Given the description of an element on the screen output the (x, y) to click on. 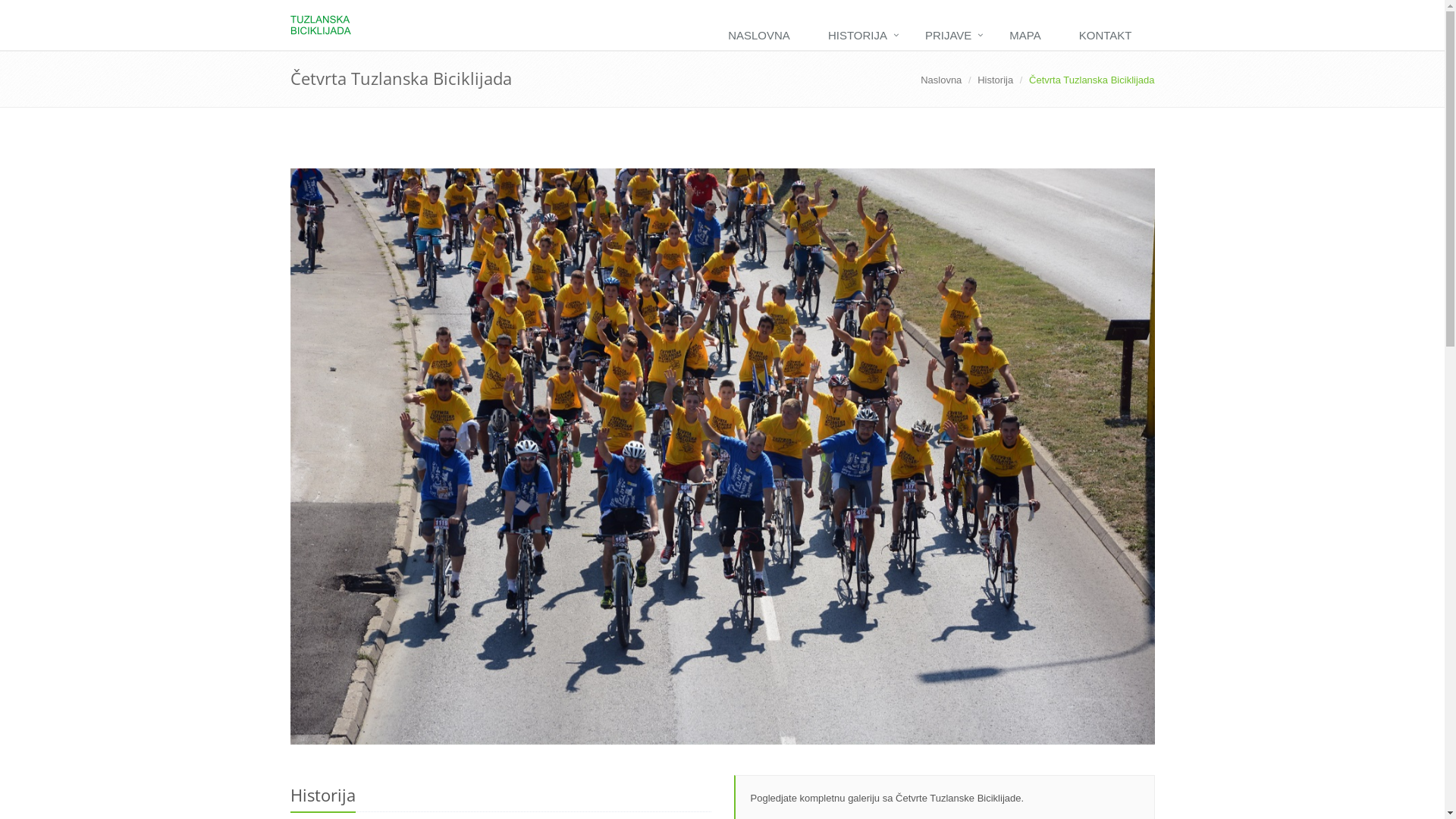
KONTAKT Element type: text (1108, 36)
HISTORIJA Element type: text (861, 36)
NASLOVNA Element type: text (762, 36)
PRIJAVE Element type: text (952, 36)
Naslovna Element type: text (940, 79)
Historija Element type: text (995, 79)
MAPA Element type: text (1028, 36)
